Given the description of an element on the screen output the (x, y) to click on. 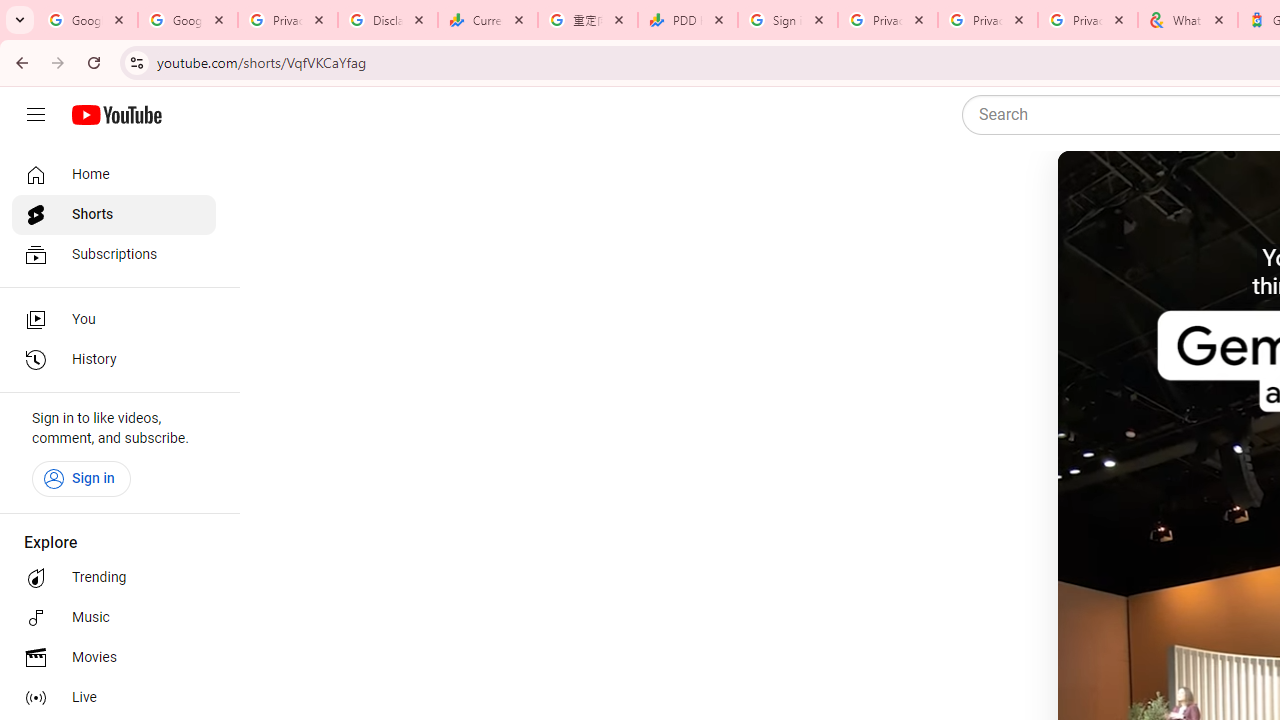
Music (113, 617)
Trending (113, 578)
Currencies - Google Finance (487, 20)
History (113, 359)
Play (k) (1097, 191)
